Given the description of an element on the screen output the (x, y) to click on. 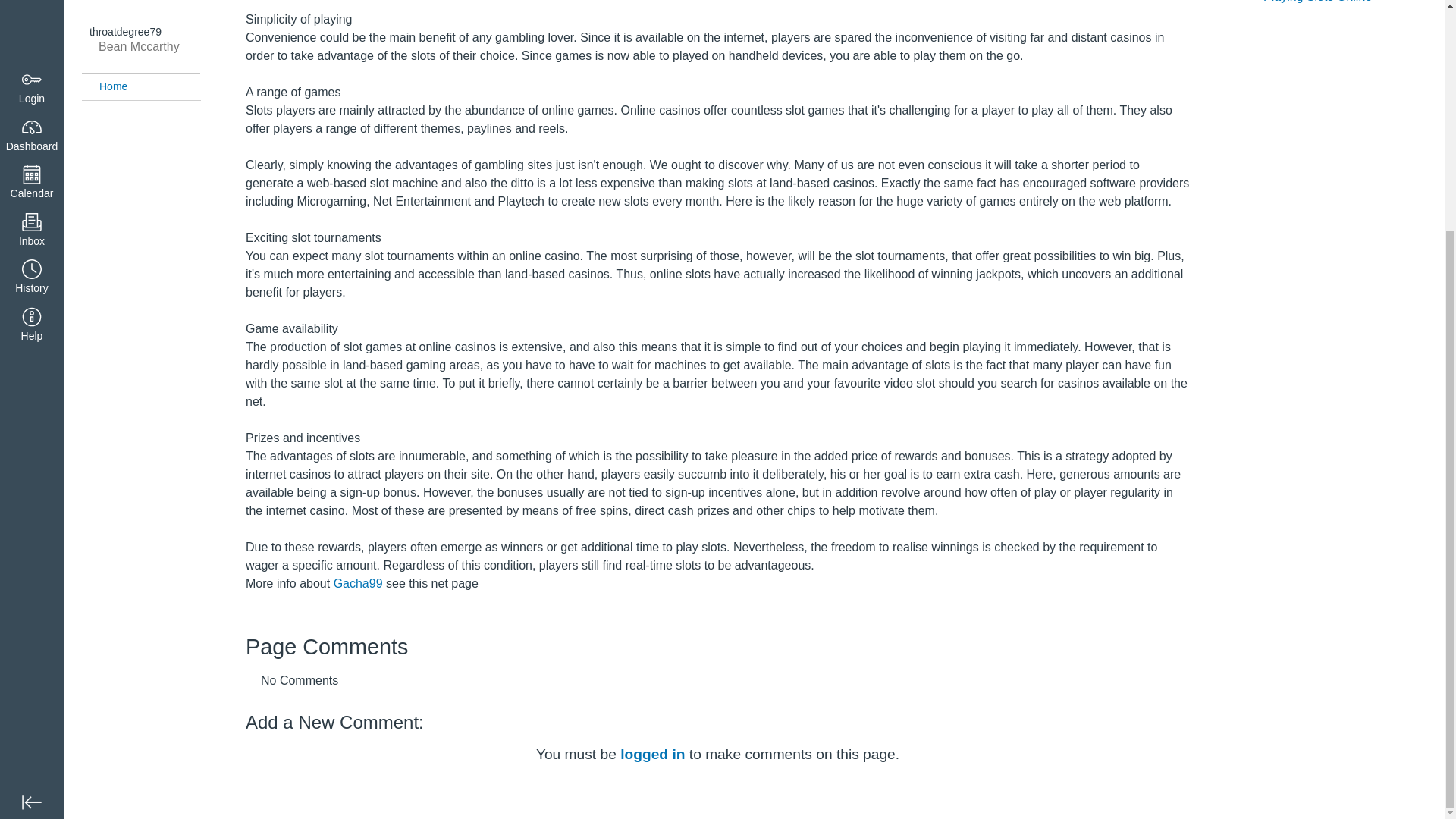
Gacha99 (357, 583)
Help (32, 18)
Minimize global navigation (32, 489)
